Given the description of an element on the screen output the (x, y) to click on. 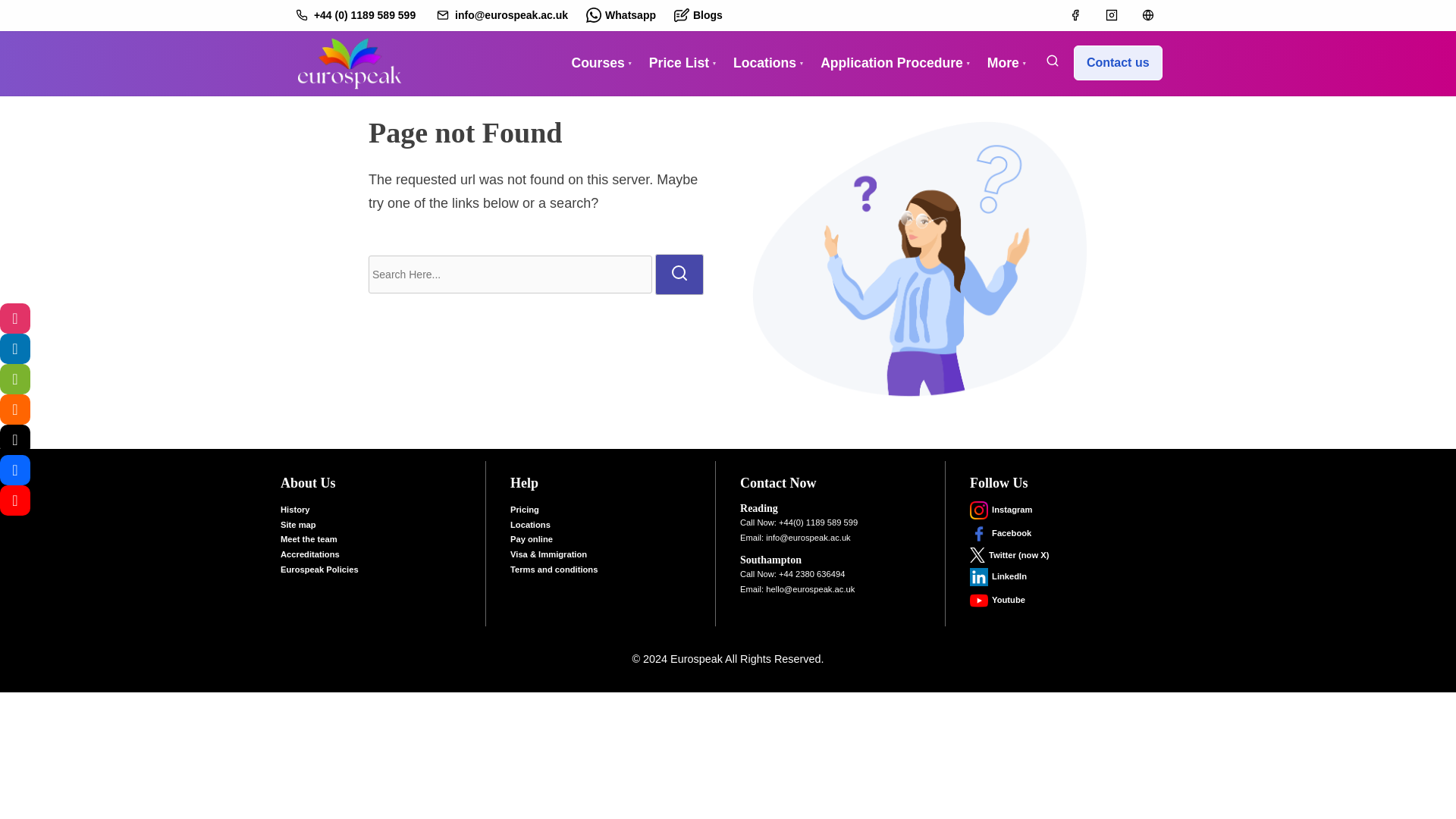
Courses (597, 63)
Locations (764, 63)
Follow us on LinkedIn (15, 348)
Connect with us on wechat (15, 378)
Watch us on Youtube (15, 500)
Latest from Eurospeak (15, 318)
Price List (678, 63)
Follow us on Facebook (15, 470)
Read Our Blogs  (15, 409)
Follow us on X (15, 440)
Blogs (698, 15)
Whatsapp (620, 15)
